Given the description of an element on the screen output the (x, y) to click on. 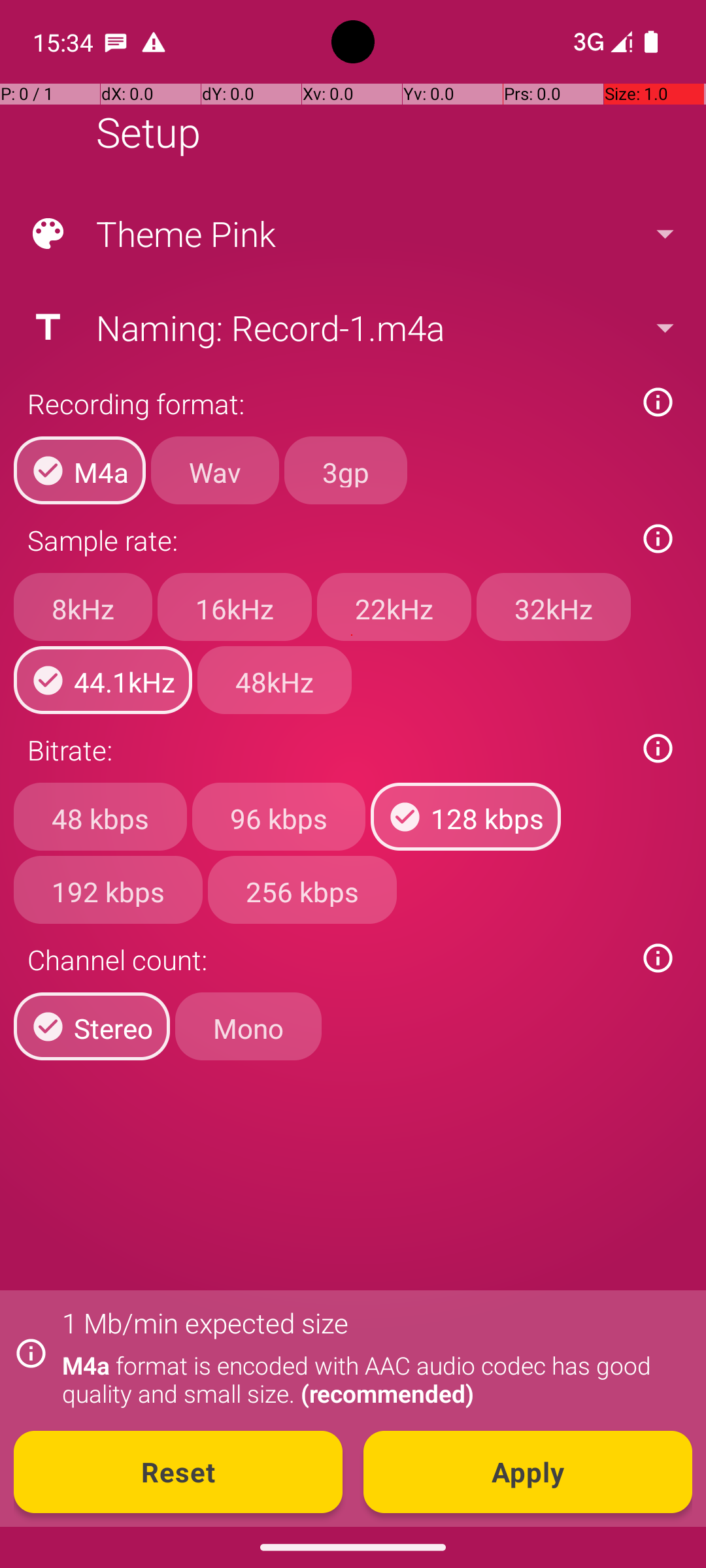
1 Mb/min expected size Element type: android.widget.TextView (205, 1322)
M4a format is encoded with AAC audio codec has good quality and small size. (recommended) Element type: android.widget.TextView (370, 1378)
Reset Element type: android.widget.Button (177, 1471)
Apply Element type: android.widget.Button (527, 1471)
Setup Element type: android.widget.TextView (148, 131)
Recording format: Element type: android.widget.TextView (325, 403)
M4a Element type: android.widget.TextView (79, 470)
Wav Element type: android.widget.TextView (215, 470)
3gp Element type: android.widget.TextView (345, 470)
Sample rate: Element type: android.widget.TextView (325, 539)
44.1kHz Element type: android.widget.TextView (102, 680)
16kHz Element type: android.widget.TextView (234, 606)
22kHz Element type: android.widget.TextView (394, 606)
32kHz Element type: android.widget.TextView (553, 606)
48kHz Element type: android.widget.TextView (274, 680)
8kHz Element type: android.widget.TextView (82, 606)
Bitrate: Element type: android.widget.TextView (325, 749)
128 kbps Element type: android.widget.TextView (465, 816)
192 kbps Element type: android.widget.TextView (107, 889)
256 kbps Element type: android.widget.TextView (301, 889)
48 kbps Element type: android.widget.TextView (99, 816)
96 kbps Element type: android.widget.TextView (278, 816)
Channel count: Element type: android.widget.TextView (325, 959)
Stereo Element type: android.widget.TextView (91, 1026)
Mono Element type: android.widget.TextView (248, 1026)
Theme Pink Element type: android.widget.TextView (352, 233)
Naming: Record-1.m4a Element type: android.widget.TextView (352, 327)
SMS Messenger notification:  Element type: android.widget.ImageView (115, 41)
Phone three bars. Element type: android.widget.FrameLayout (600, 41)
